Given the description of an element on the screen output the (x, y) to click on. 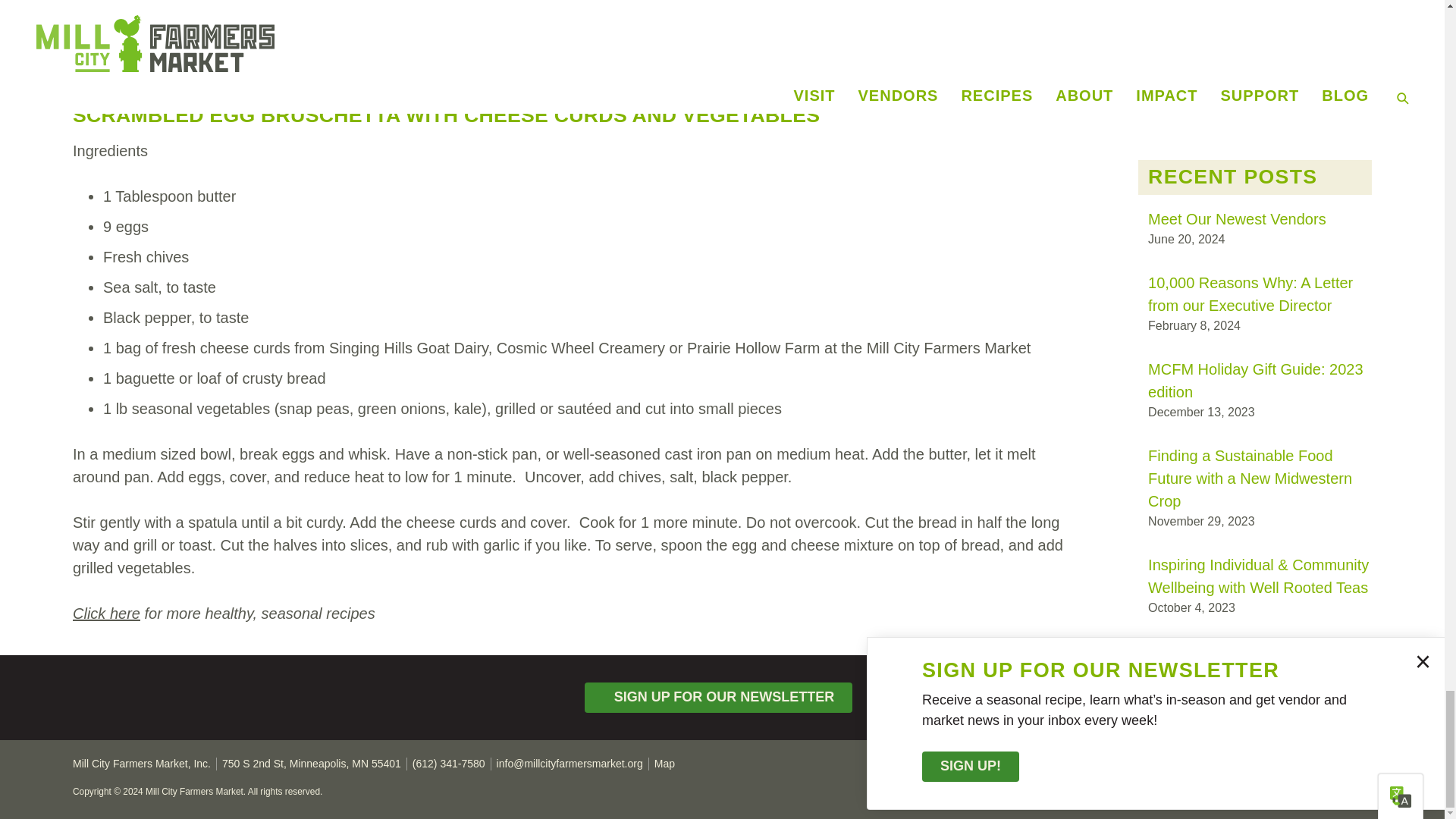
Instagram (1354, 773)
Facebook (1322, 773)
Twitter (1289, 773)
